Given the description of an element on the screen output the (x, y) to click on. 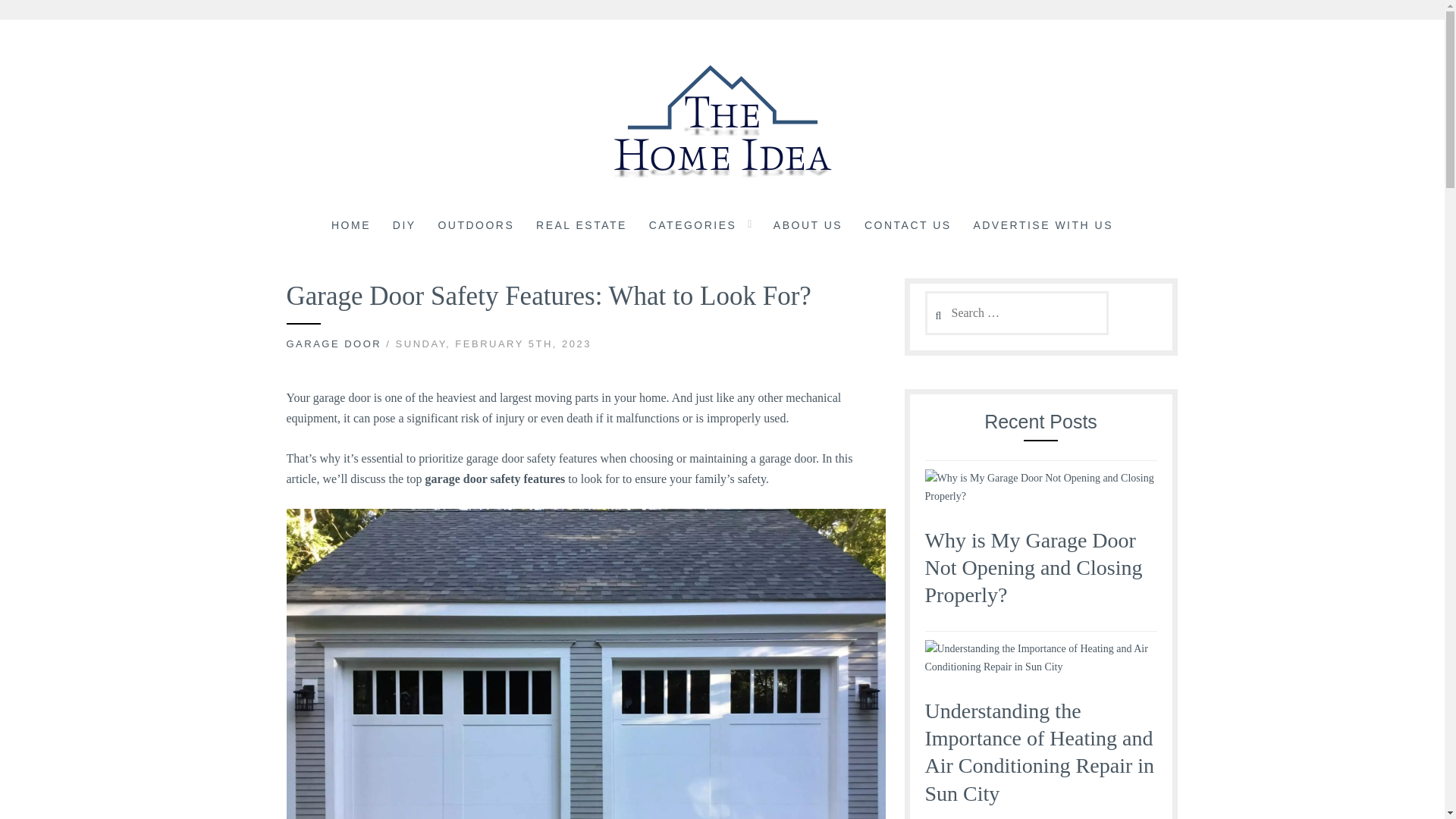
GARAGE DOOR (333, 343)
ABOUT US (808, 226)
REAL ESTATE (581, 226)
CATEGORIES (692, 226)
DIY (404, 226)
CONTACT US (908, 226)
OUTDOORS (475, 226)
HOME (351, 226)
ADVERTISE WITH US (1042, 226)
